Given the description of an element on the screen output the (x, y) to click on. 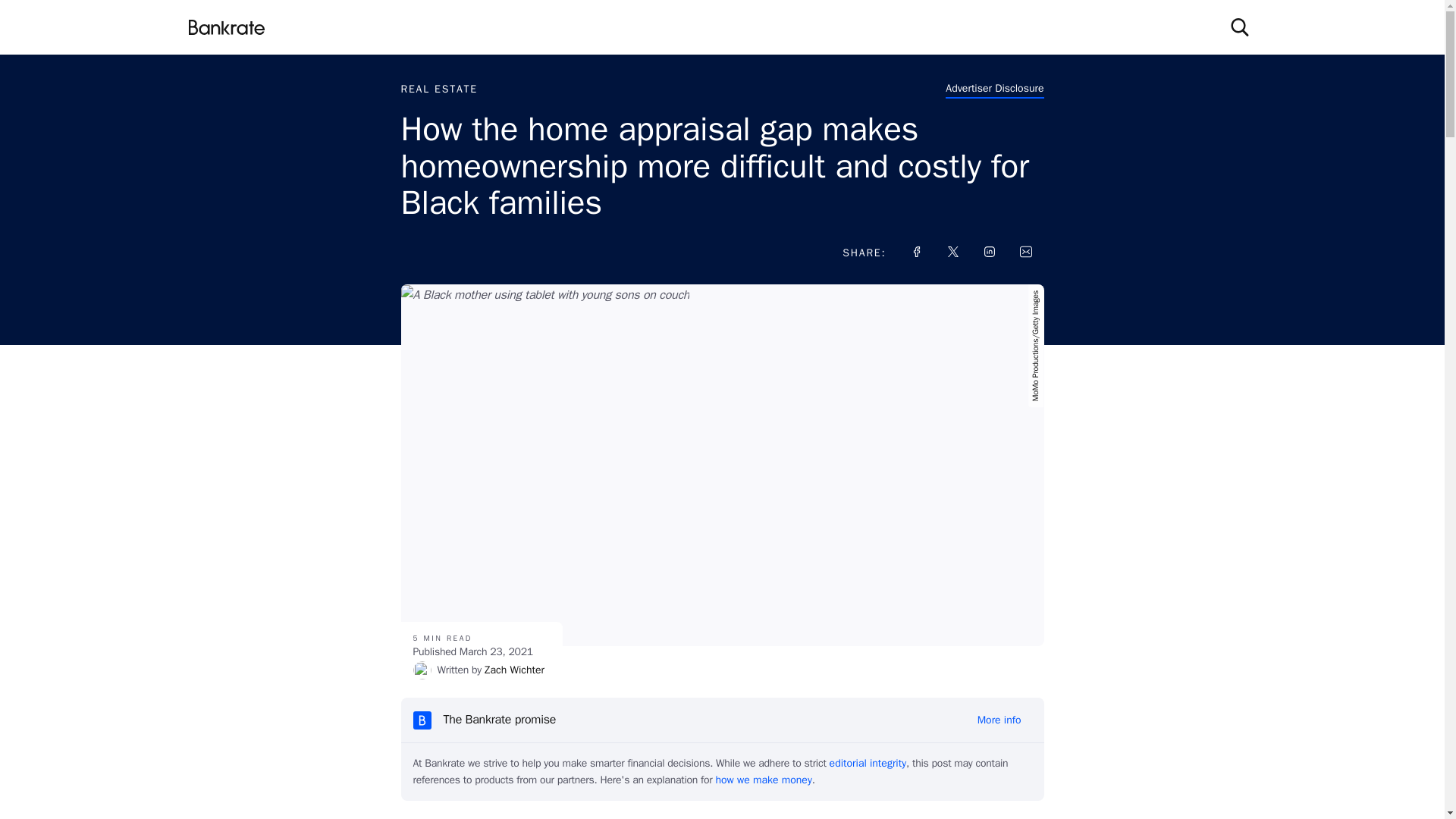
Facebook (915, 251)
LinkedIn (988, 251)
Email (1024, 251)
Twitter (952, 251)
